Given the description of an element on the screen output the (x, y) to click on. 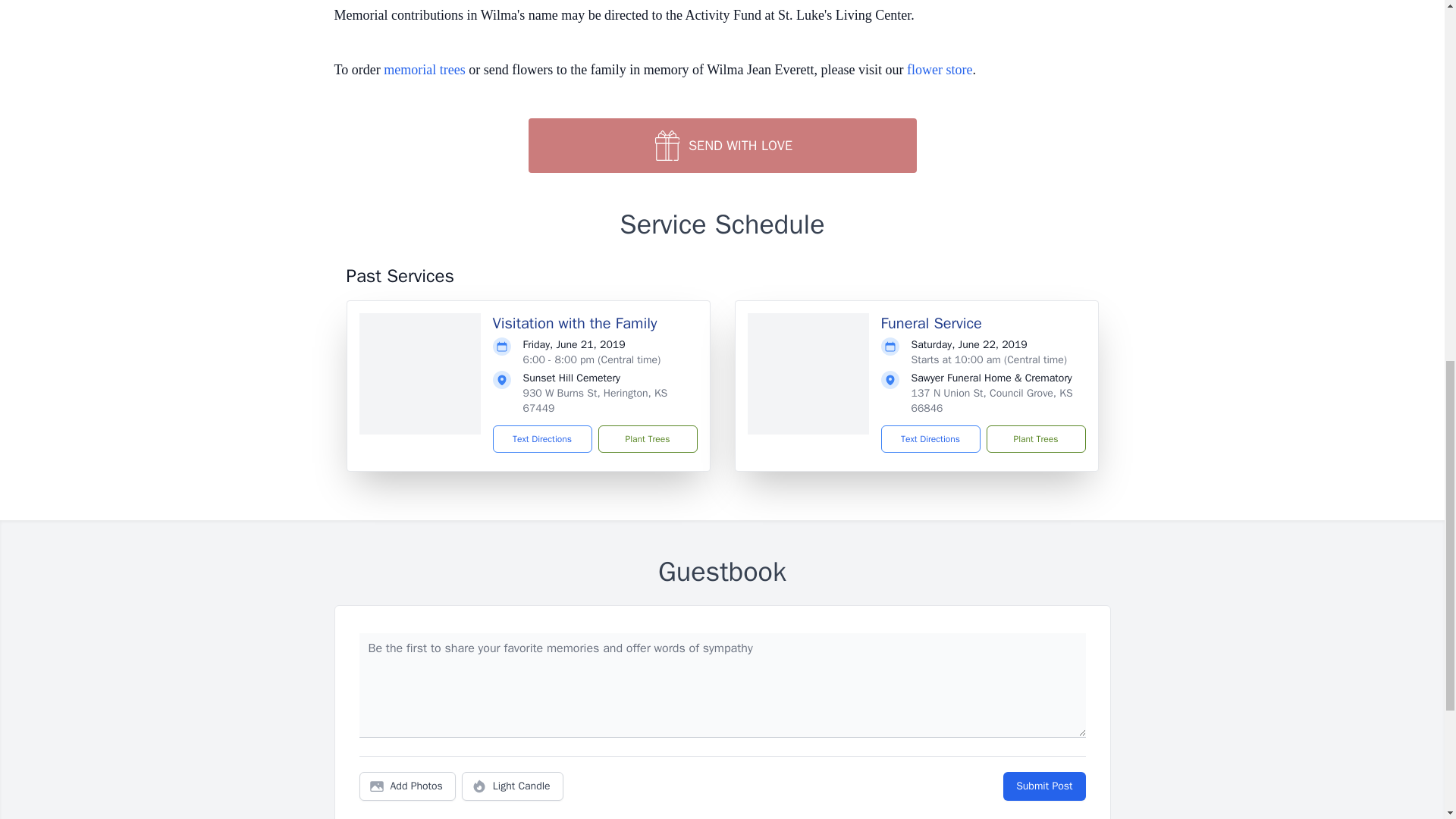
Text Directions (542, 438)
memorial trees (424, 69)
flower store (939, 69)
Plant Trees (646, 438)
Text Directions (929, 438)
Light Candle (512, 786)
930 W Burns St, Herington, KS 67449 (595, 400)
Plant Trees (1034, 438)
137 N Union St, Council Grove, KS 66846 (992, 400)
SEND WITH LOVE (721, 144)
